Given the description of an element on the screen output the (x, y) to click on. 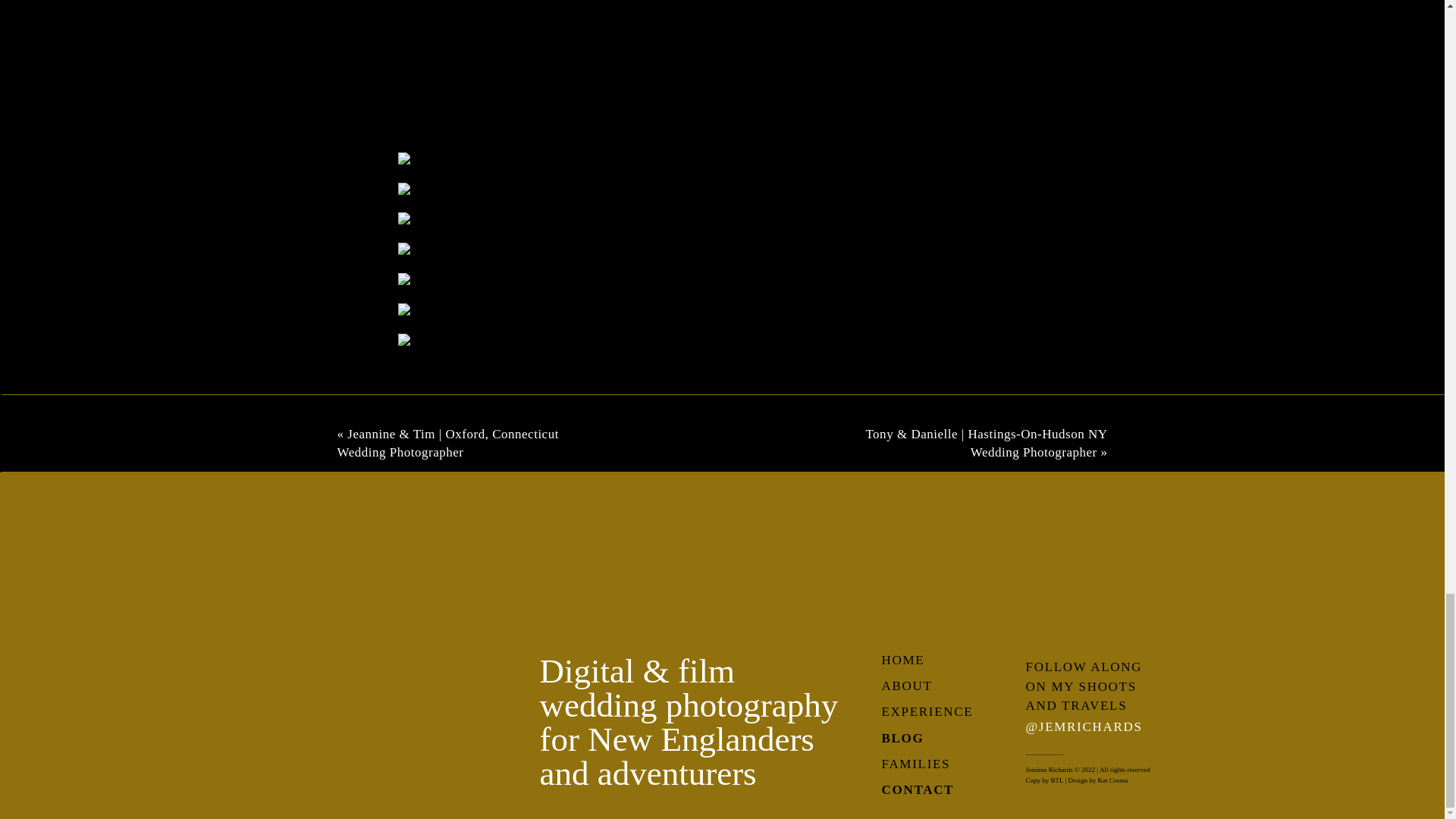
BLOG (915, 738)
FAMILIES (926, 764)
EXPERIENCE (945, 711)
HOME (921, 660)
CONTACT (926, 790)
FOLLOW ALONG ON MY SHOOTS AND TRAVELS (1087, 684)
ABOUT (926, 686)
Design by Kat Cosma (1096, 778)
